Given the description of an element on the screen output the (x, y) to click on. 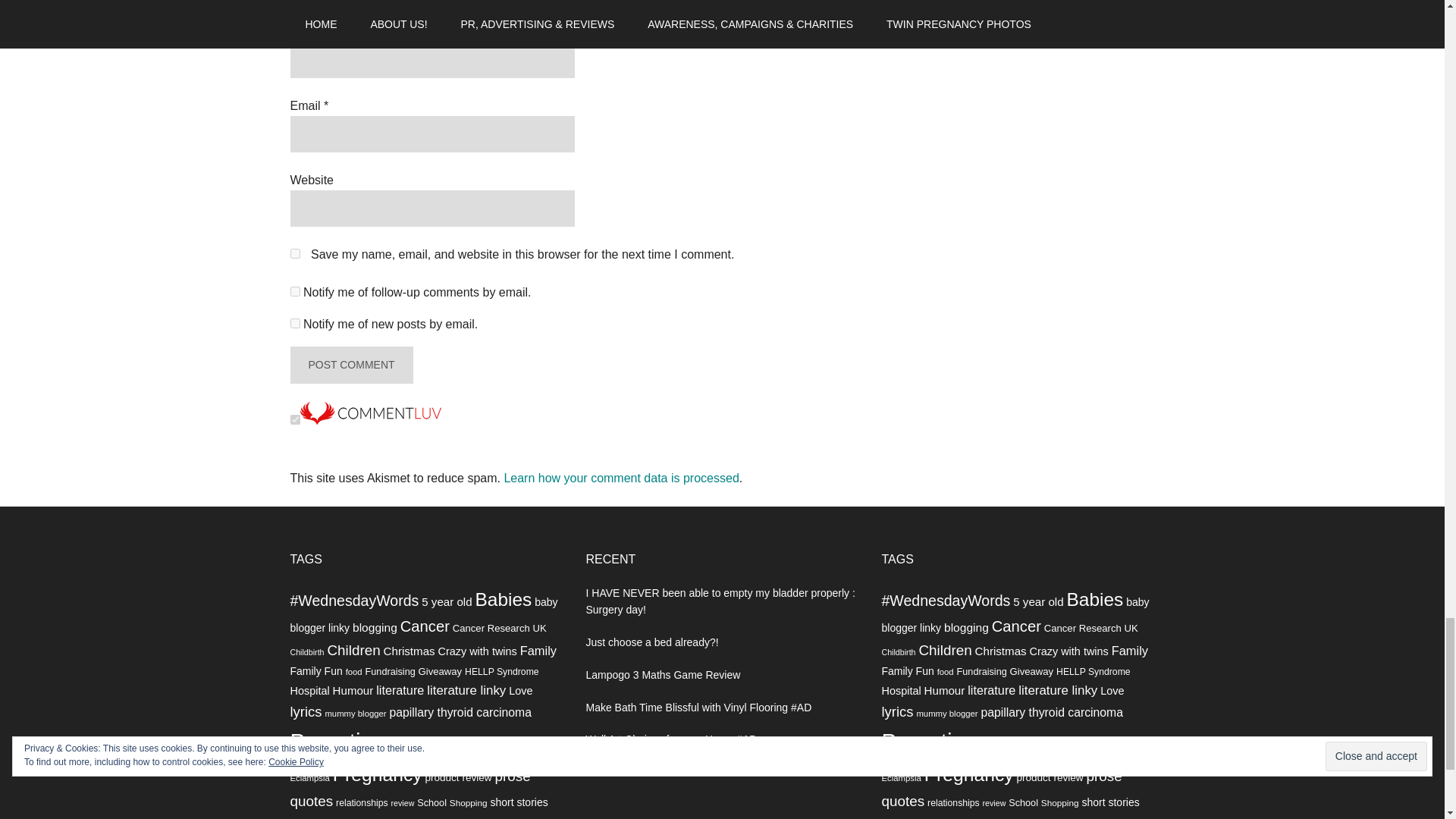
subscribe (294, 323)
yes (294, 253)
on (294, 419)
Post Comment (350, 364)
subscribe (294, 291)
